Given the description of an element on the screen output the (x, y) to click on. 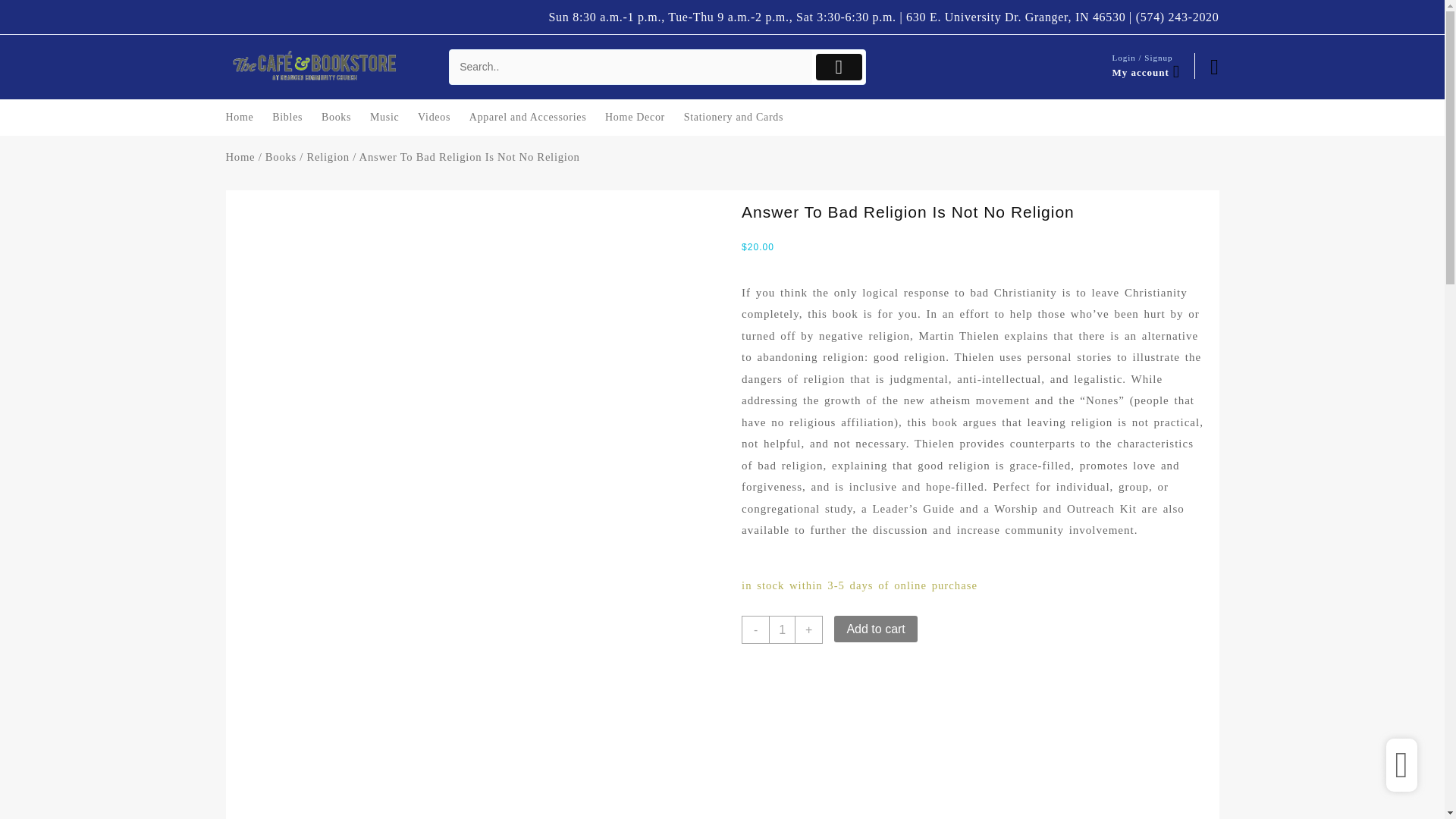
1 (781, 629)
630 E. University Dr. Granger, IN 46530 (1015, 16)
Submit (838, 67)
Search (630, 66)
